Given the description of an element on the screen output the (x, y) to click on. 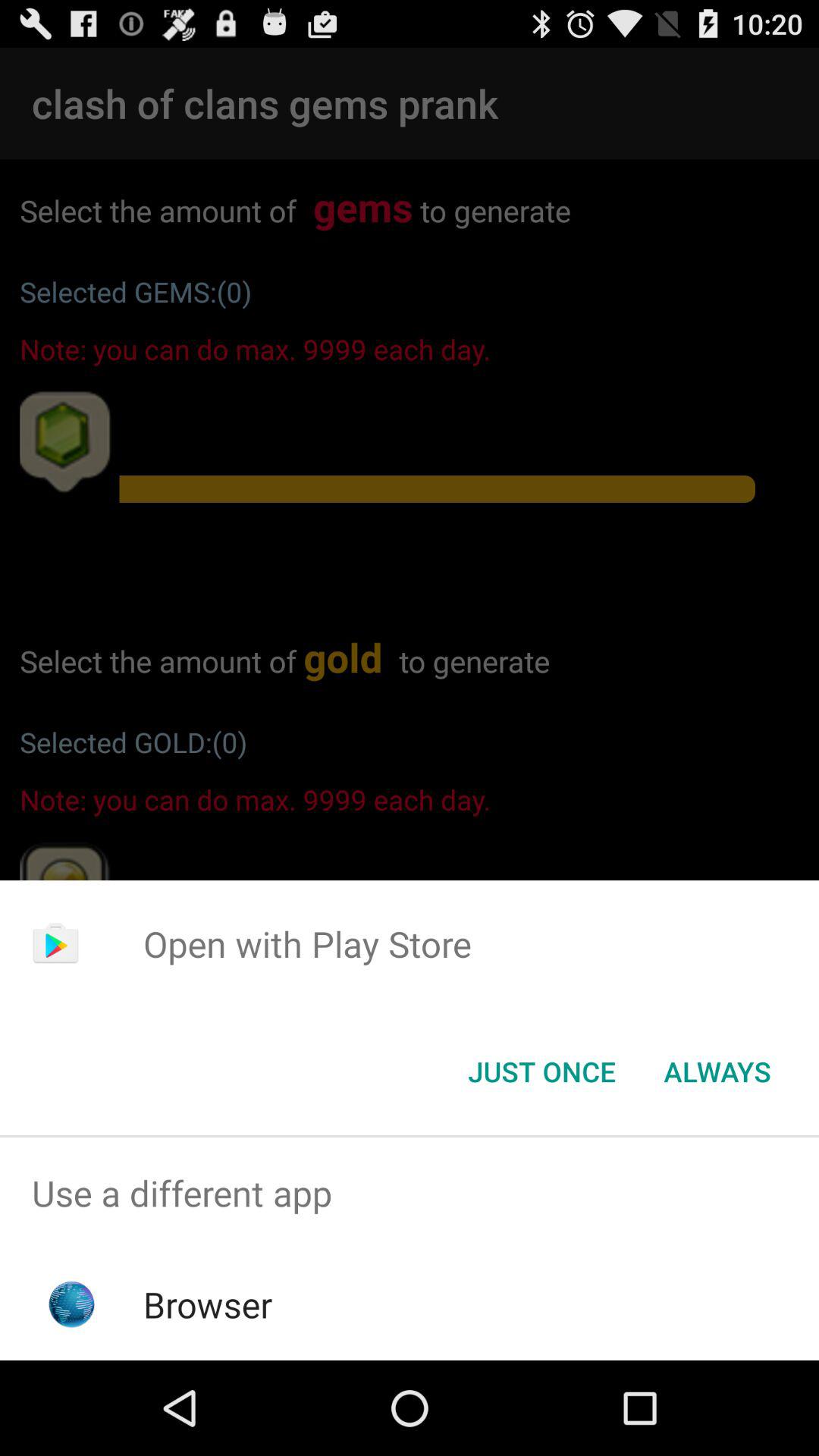
choose the always item (717, 1071)
